Given the description of an element on the screen output the (x, y) to click on. 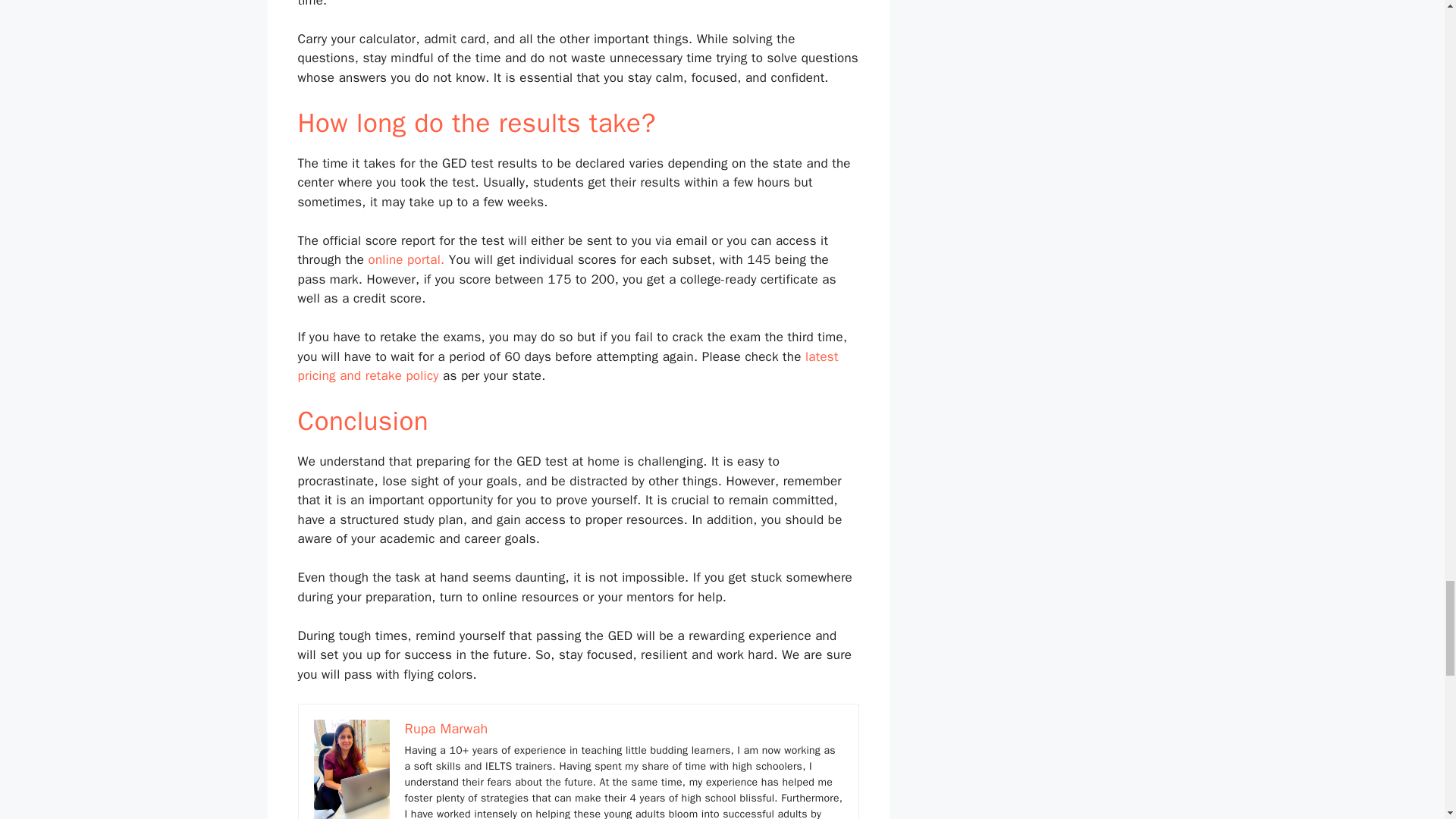
online portal. (406, 259)
latest pricing and retake policy (567, 366)
Rupa Marwah (445, 728)
